Given the description of an element on the screen output the (x, y) to click on. 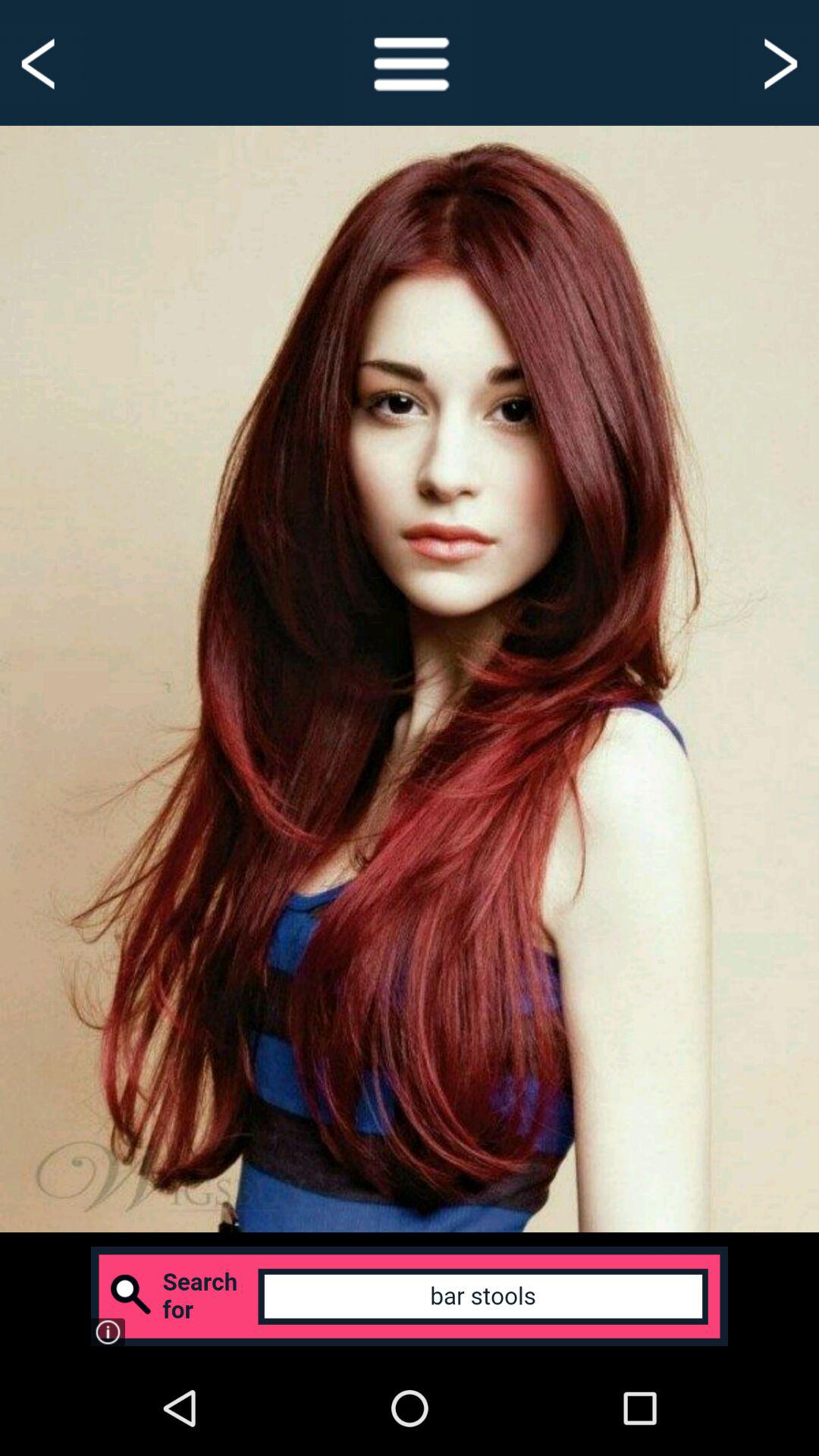
see menu (409, 62)
